Given the description of an element on the screen output the (x, y) to click on. 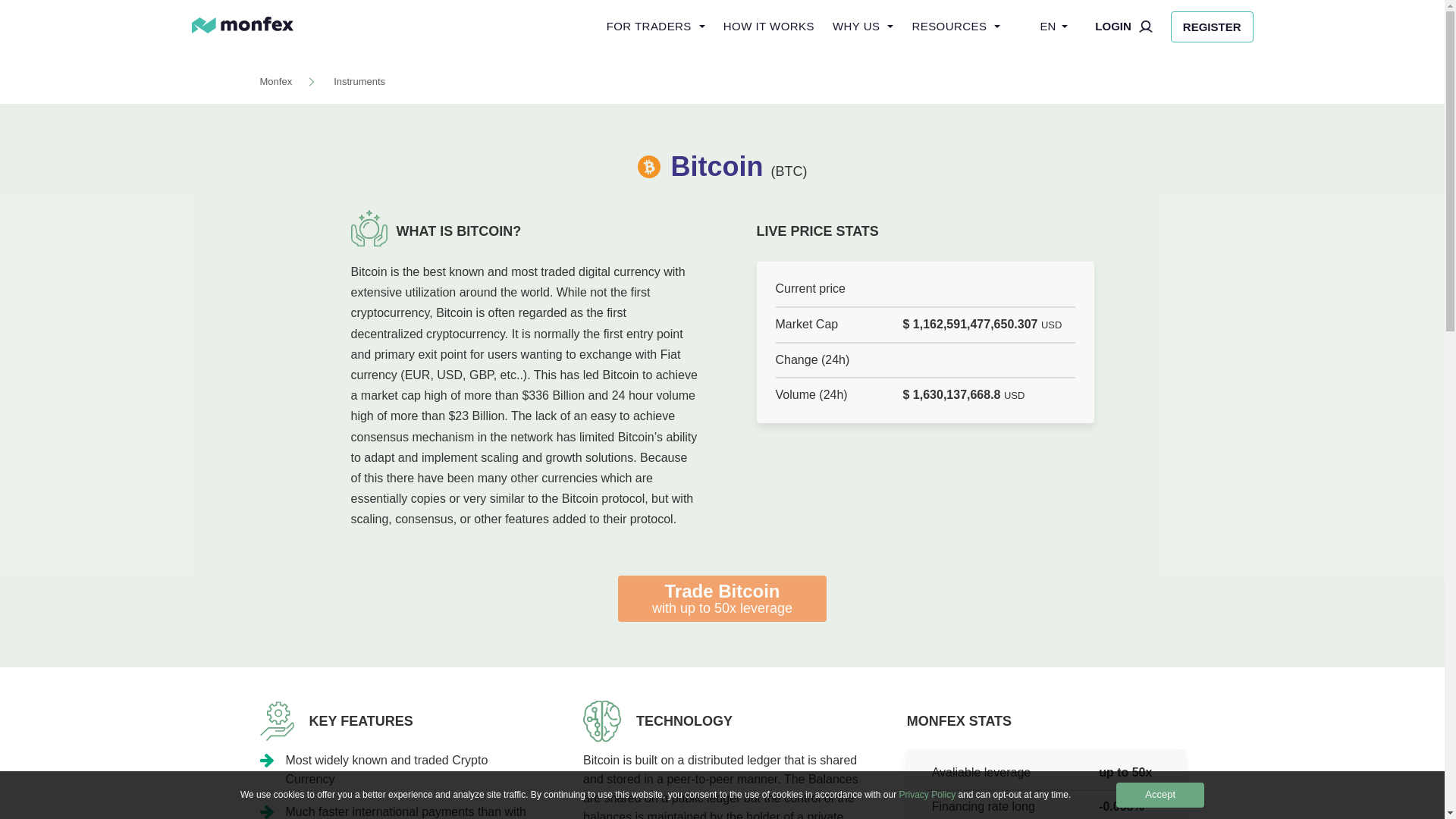
Monfex (722, 598)
Instruments (275, 82)
LOGIN (359, 82)
HOW IT WORKS (1123, 26)
REGISTER (768, 26)
